Given the description of an element on the screen output the (x, y) to click on. 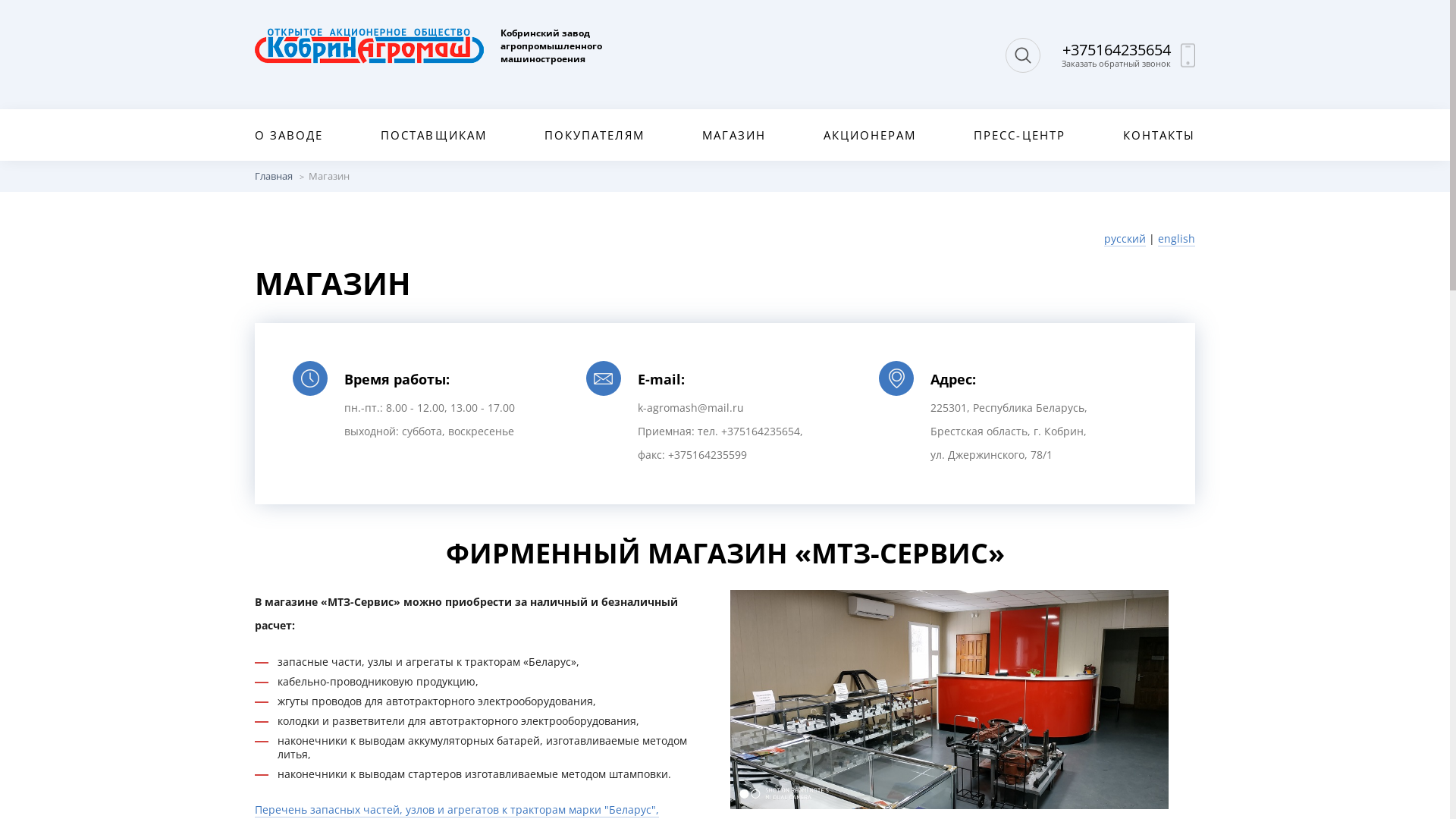
+375164235654 Element type: text (1115, 49)
english Element type: text (1176, 238)
